Given the description of an element on the screen output the (x, y) to click on. 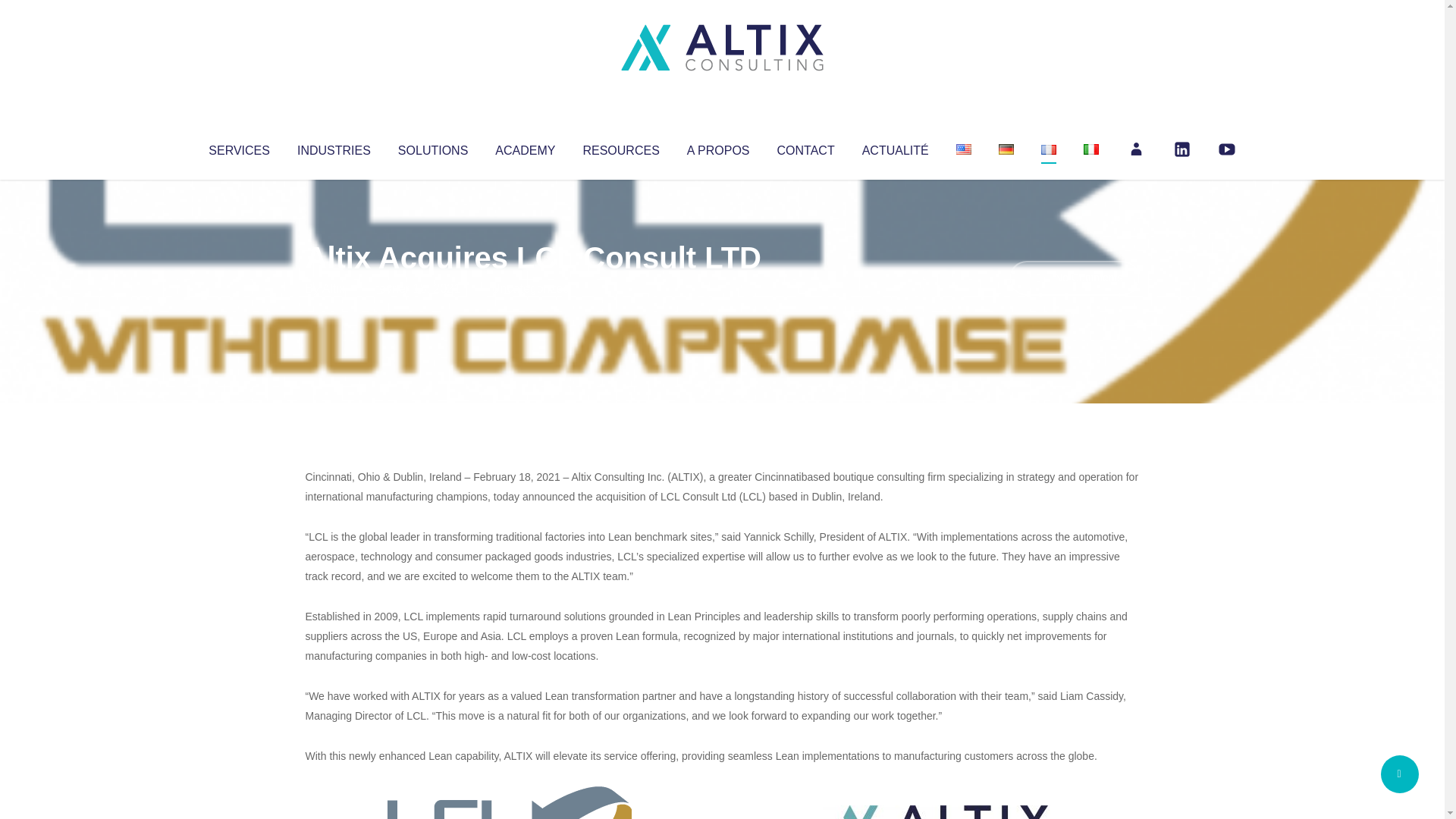
Articles par Altix (333, 287)
SOLUTIONS (432, 146)
A PROPOS (718, 146)
Altix (333, 287)
ACADEMY (524, 146)
INDUSTRIES (334, 146)
No Comments (1073, 278)
Uncategorized (530, 287)
RESOURCES (620, 146)
SERVICES (238, 146)
